Given the description of an element on the screen output the (x, y) to click on. 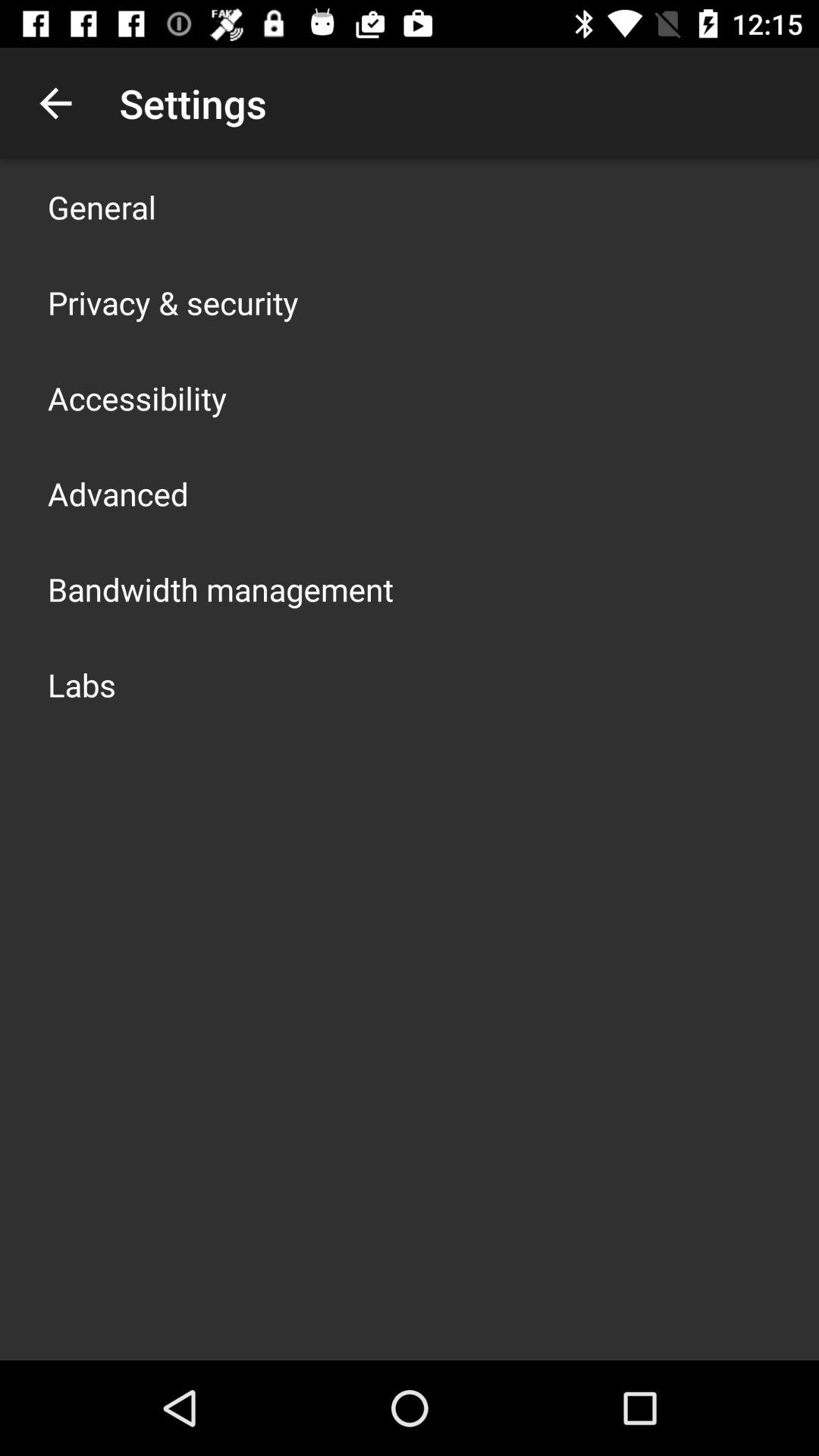
select the bandwidth management icon (220, 588)
